Given the description of an element on the screen output the (x, y) to click on. 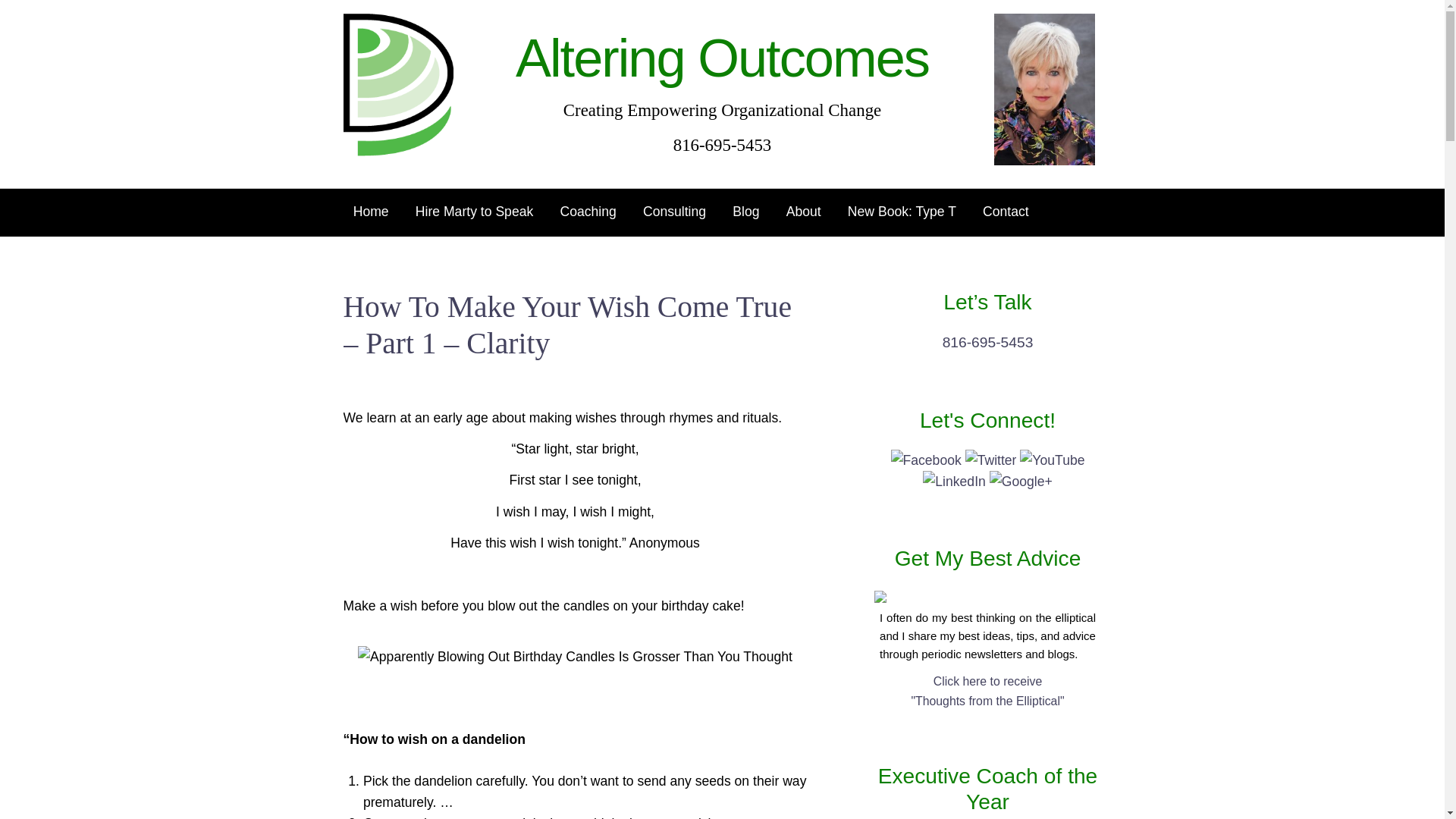
LinkedIn (955, 481)
About (721, 127)
Facebook (802, 212)
Blog (926, 459)
Coaching (746, 212)
Contact (588, 212)
Hire Marty to Speak (1005, 212)
YouTube (474, 212)
Altering Outcomes (1052, 459)
Twitter (721, 57)
Consulting (992, 459)
Type T Leadership (674, 212)
Home (902, 212)
New Book: Type T (369, 212)
